Given the description of an element on the screen output the (x, y) to click on. 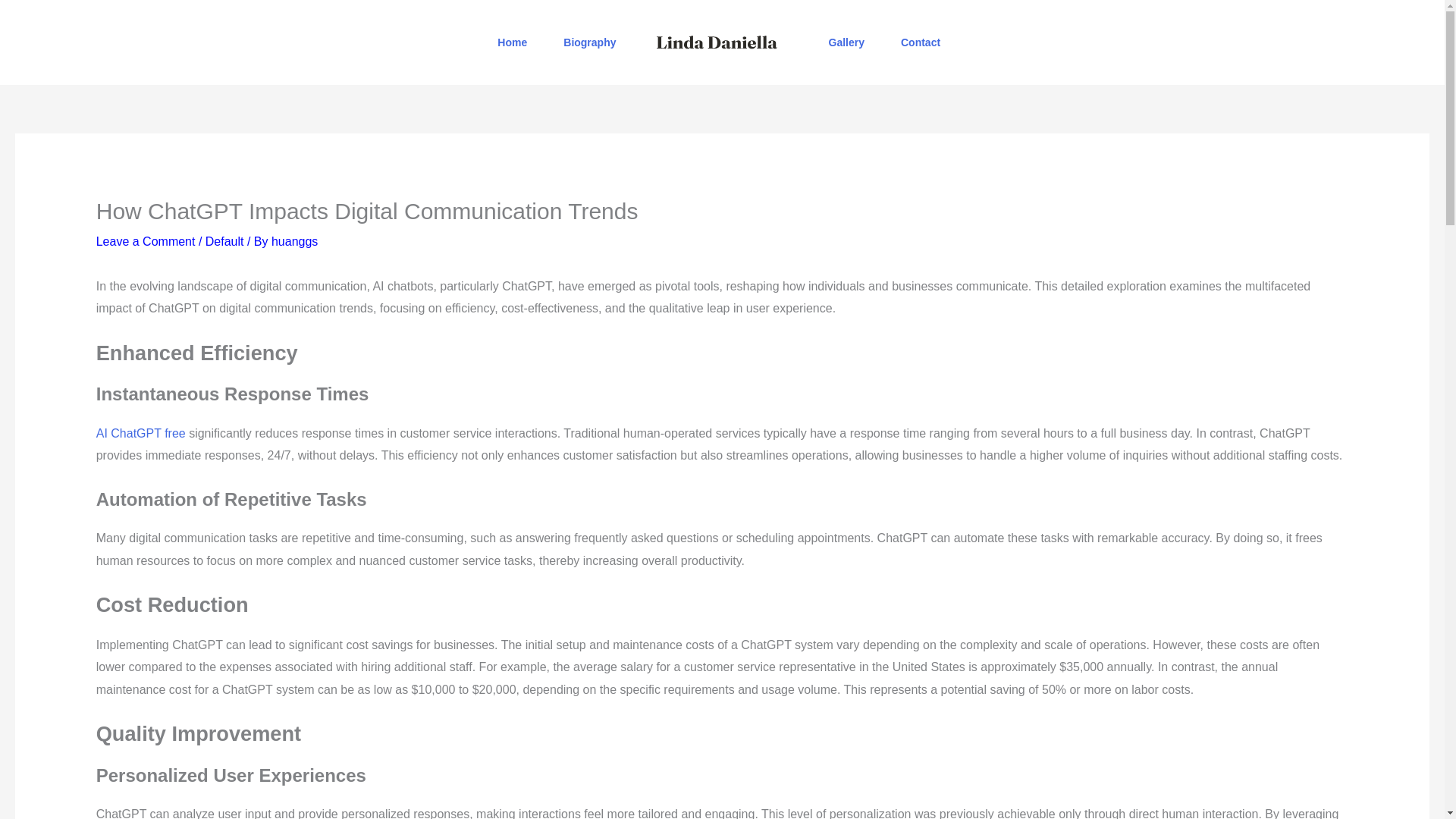
huanggs (293, 241)
Biography (588, 42)
AI ChatGPT free (141, 432)
View all posts by huanggs (293, 241)
Leave a Comment (145, 241)
Contact (920, 42)
Default (224, 241)
